Given the description of an element on the screen output the (x, y) to click on. 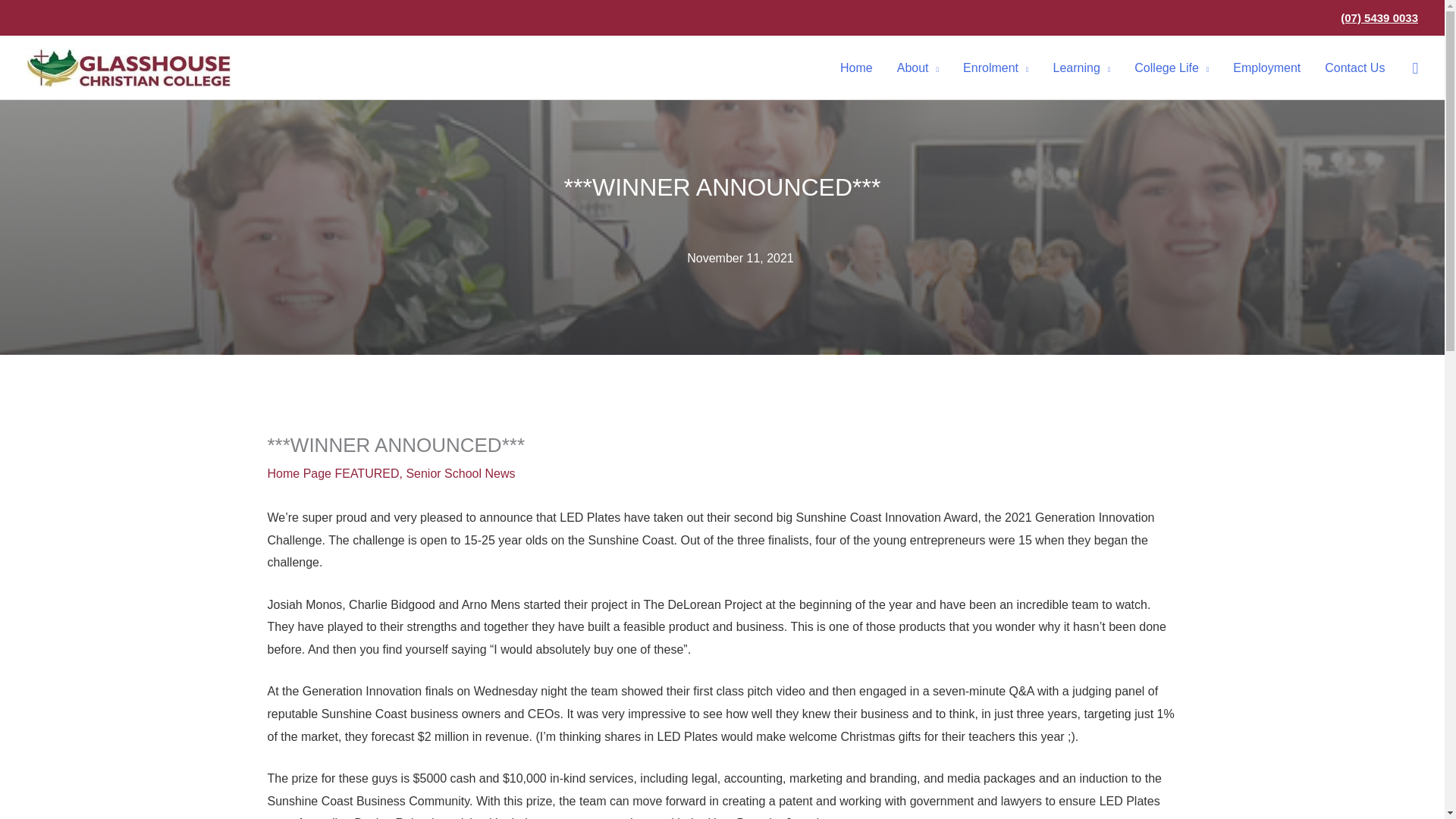
Enrolment (995, 67)
About (917, 67)
Employment (1267, 67)
College Life (1171, 67)
Home (856, 67)
Learning (1081, 67)
